Given the description of an element on the screen output the (x, y) to click on. 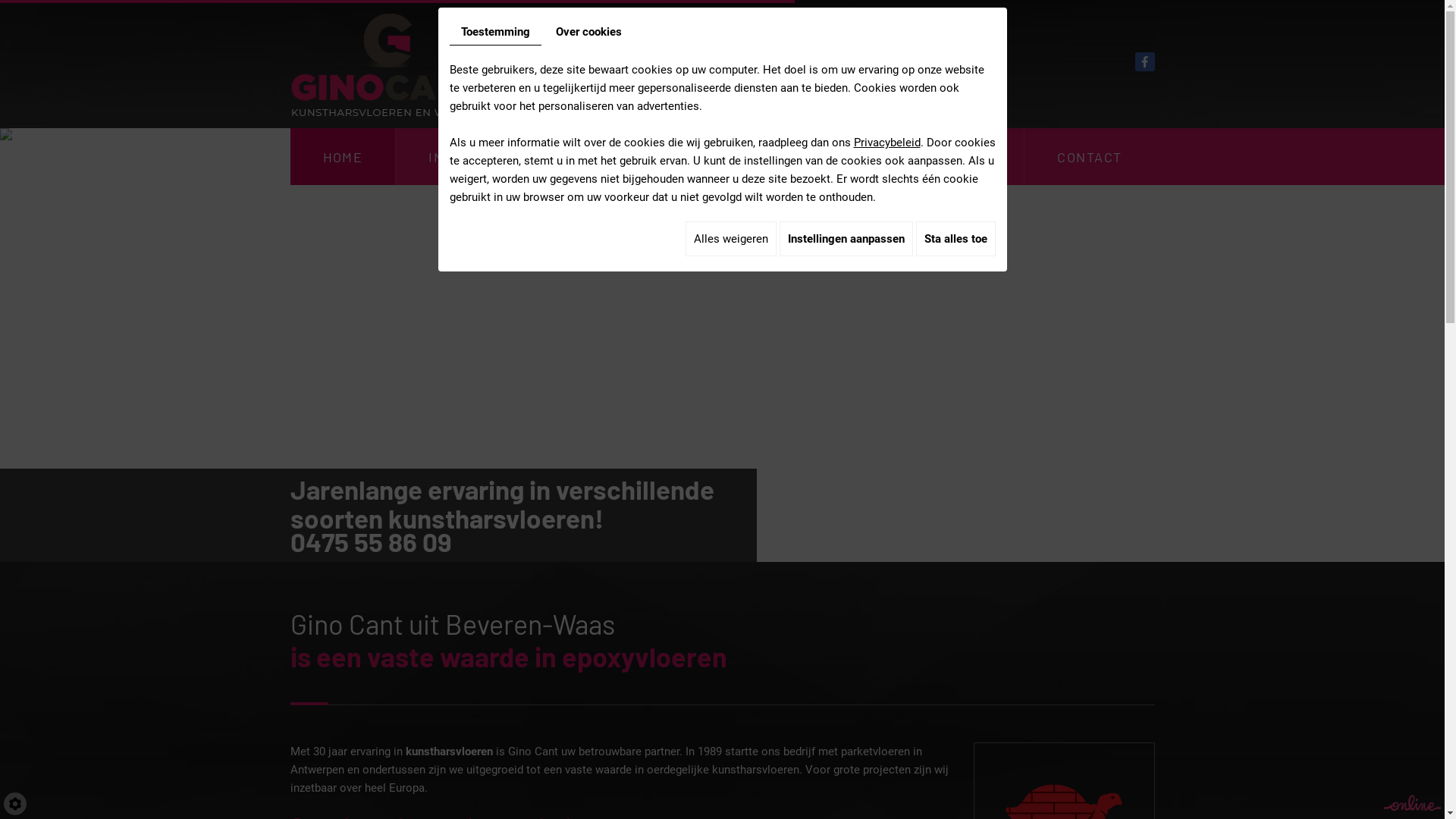
Privacybeleid Element type: text (886, 142)
Alles weigeren Element type: text (730, 238)
Cookie-instelling bewerken Element type: text (14, 803)
Instellingen aanpassen Element type: text (846, 238)
Facebook Element type: hover (1144, 61)
Toestemming Element type: text (494, 31)
Sta alles toe Element type: text (955, 238)
REALISATIES Element type: text (944, 156)
Gino Cant Kunstharsvloeren Element type: hover (386, 64)
HOME Element type: text (342, 156)
Over cookies Element type: text (588, 31)
CONTACT Element type: text (1089, 156)
